Given the description of an element on the screen output the (x, y) to click on. 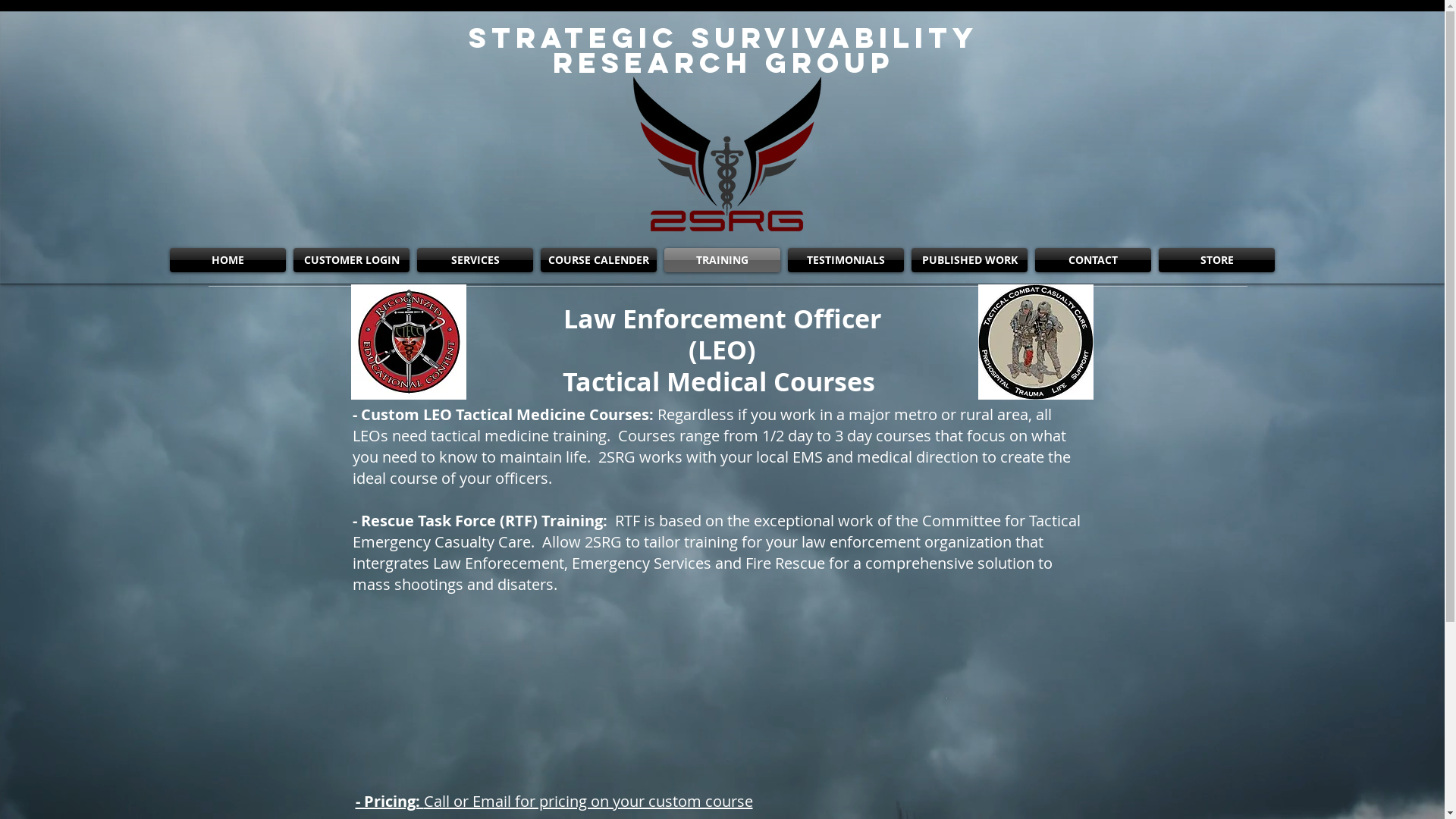
- Pricing: Call or Email for pricing on your custom course Element type: text (553, 800)
Strategic Survivability Research Group Element type: text (723, 49)
COURSE CALENDER Element type: text (598, 259)
LOGO C-TECC REP.jpg Element type: hover (407, 340)
STORE Element type: text (1216, 259)
TRAINING Element type: text (722, 259)
TESTIMONIALS Element type: text (845, 259)
CUSTOMER LOGIN Element type: text (351, 259)
HOME Element type: text (227, 259)
PUBLISHED WORK Element type: text (969, 259)
CONTACT Element type: text (1092, 259)
SERVICES Element type: text (474, 259)
